Given the description of an element on the screen output the (x, y) to click on. 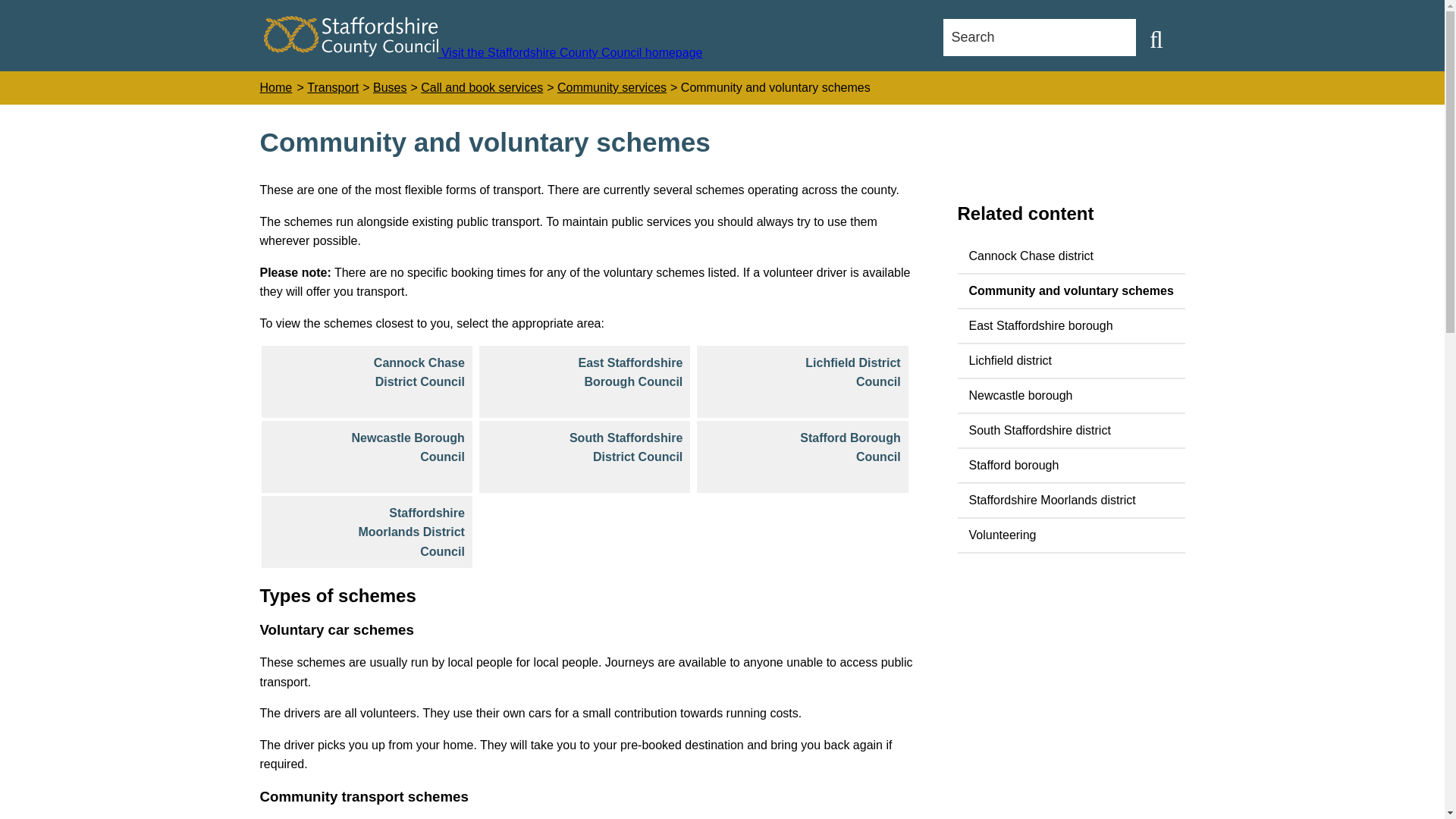
Search (1039, 37)
Call and book services (481, 87)
Community services (611, 87)
Home (275, 87)
Buses (389, 87)
Visit the Staffordshire County Council homepage (483, 51)
Transport (332, 87)
Search (1155, 39)
Search (1039, 37)
Staffordshire County Council (350, 35)
